Given the description of an element on the screen output the (x, y) to click on. 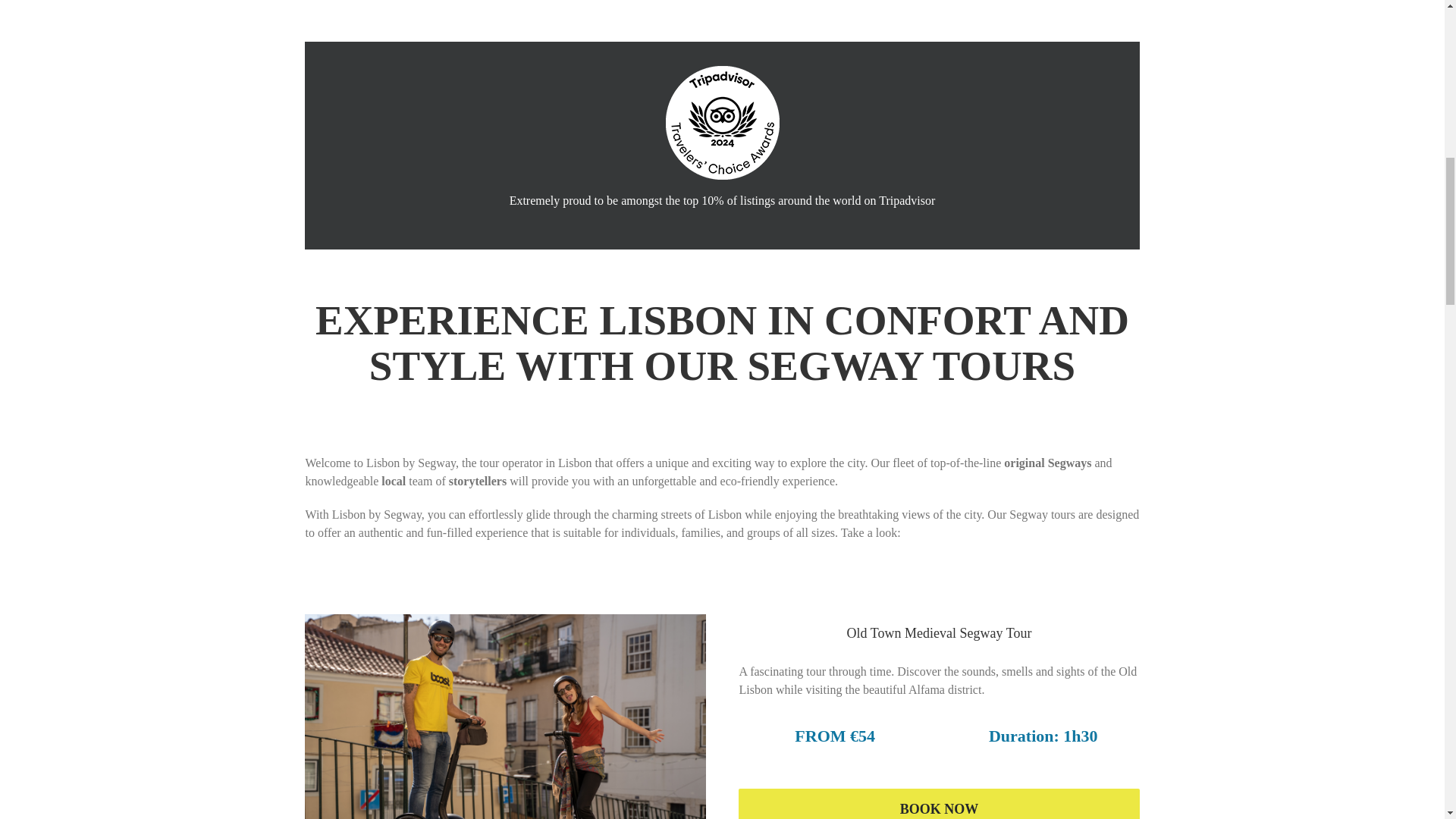
segway-tour-stop-for-pictures (504, 716)
BOOK NOW (938, 803)
